Given the description of an element on the screen output the (x, y) to click on. 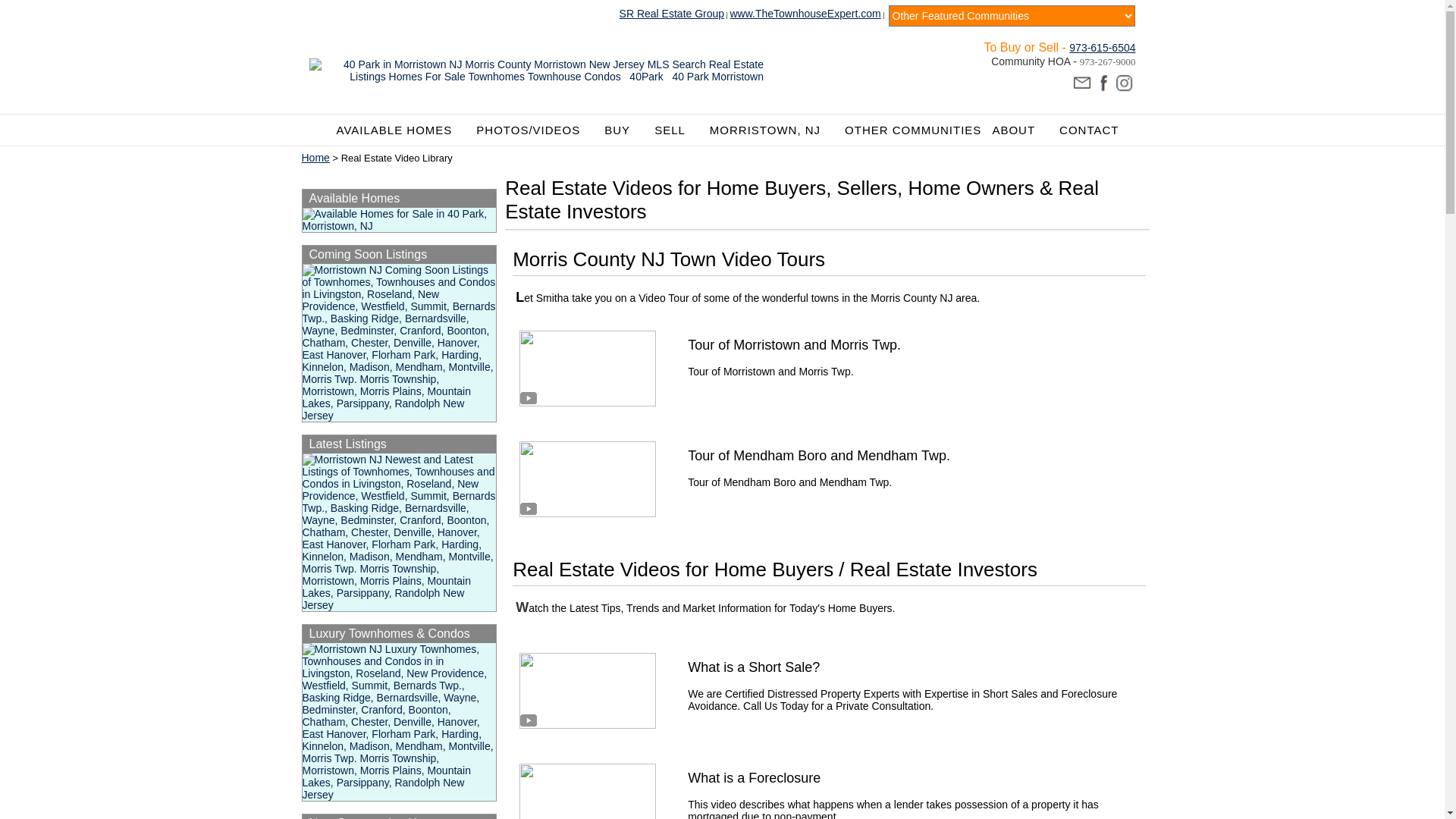
AVAILABLE HOMES Element type: text (401, 129)
ABOUT Element type: text (1020, 129)
Email Us Element type: hover (1081, 83)
SELL Element type: text (676, 129)
MORRISTOWN, NJ Element type: text (771, 129)
www.TheTownhouseExpert.com Element type: text (804, 13)
Home Element type: text (315, 157)
BUY Element type: text (624, 129)
Follow Us on Instagram Element type: hover (1123, 83)
Visit us on Facebook Element type: hover (1102, 83)
CONTACT Element type: text (1088, 129)
973-615-6504 Element type: text (1102, 46)
OTHER COMMUNITIES Element type: text (912, 129)
PHOTOS/VIDEOS Element type: text (534, 129)
Available Homes for Sale in 40 Park, Morristown, NJ Element type: hover (398, 219)
SR Real Estate Group Element type: text (671, 13)
